Given the description of an element on the screen output the (x, y) to click on. 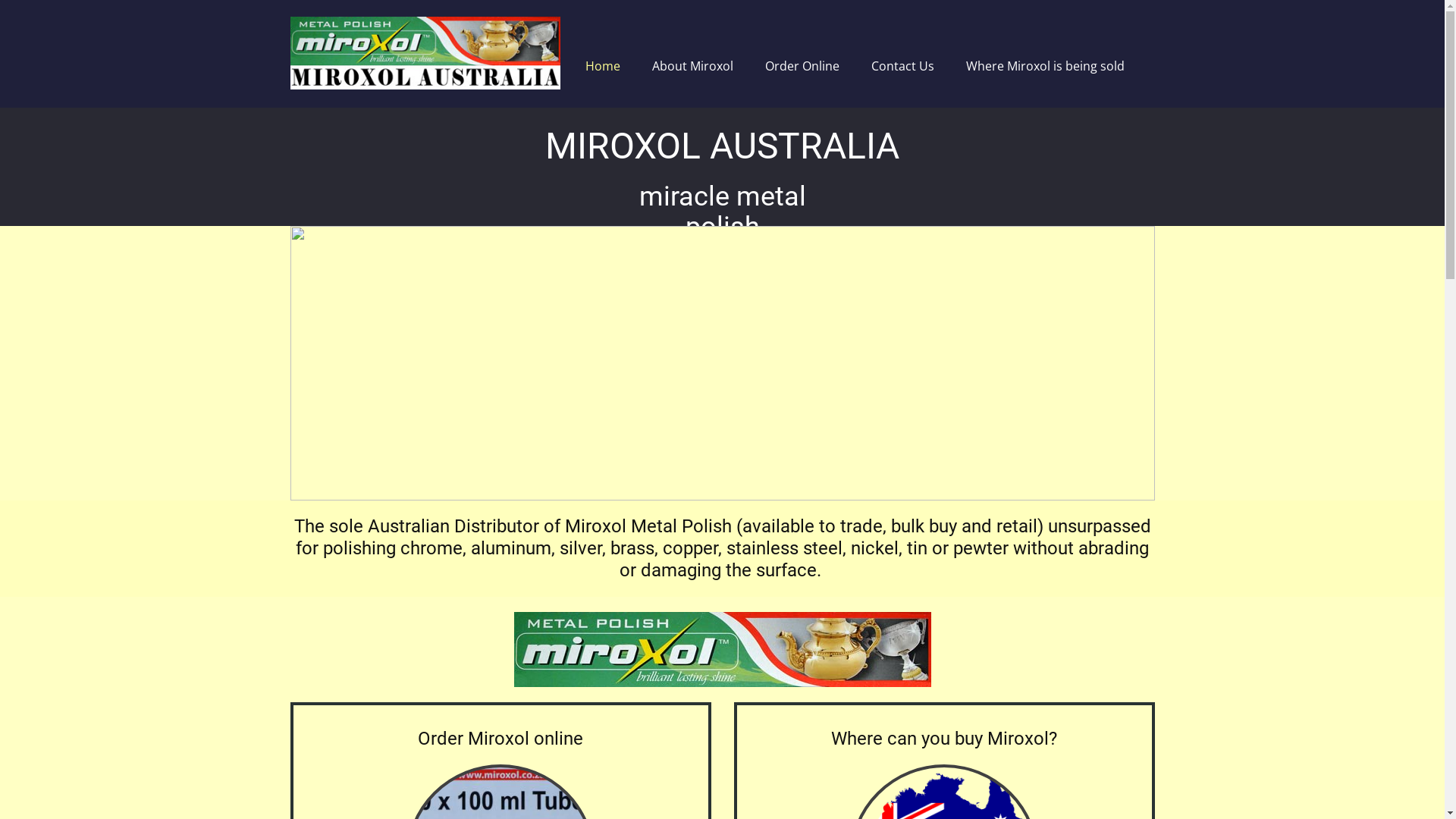
About Miroxol Element type: text (692, 65)
Order Online Element type: text (801, 65)
Home Element type: text (602, 65)
Contact Us Element type: text (901, 65)
Where Miroxol is being sold Element type: text (1044, 65)
